Given the description of an element on the screen output the (x, y) to click on. 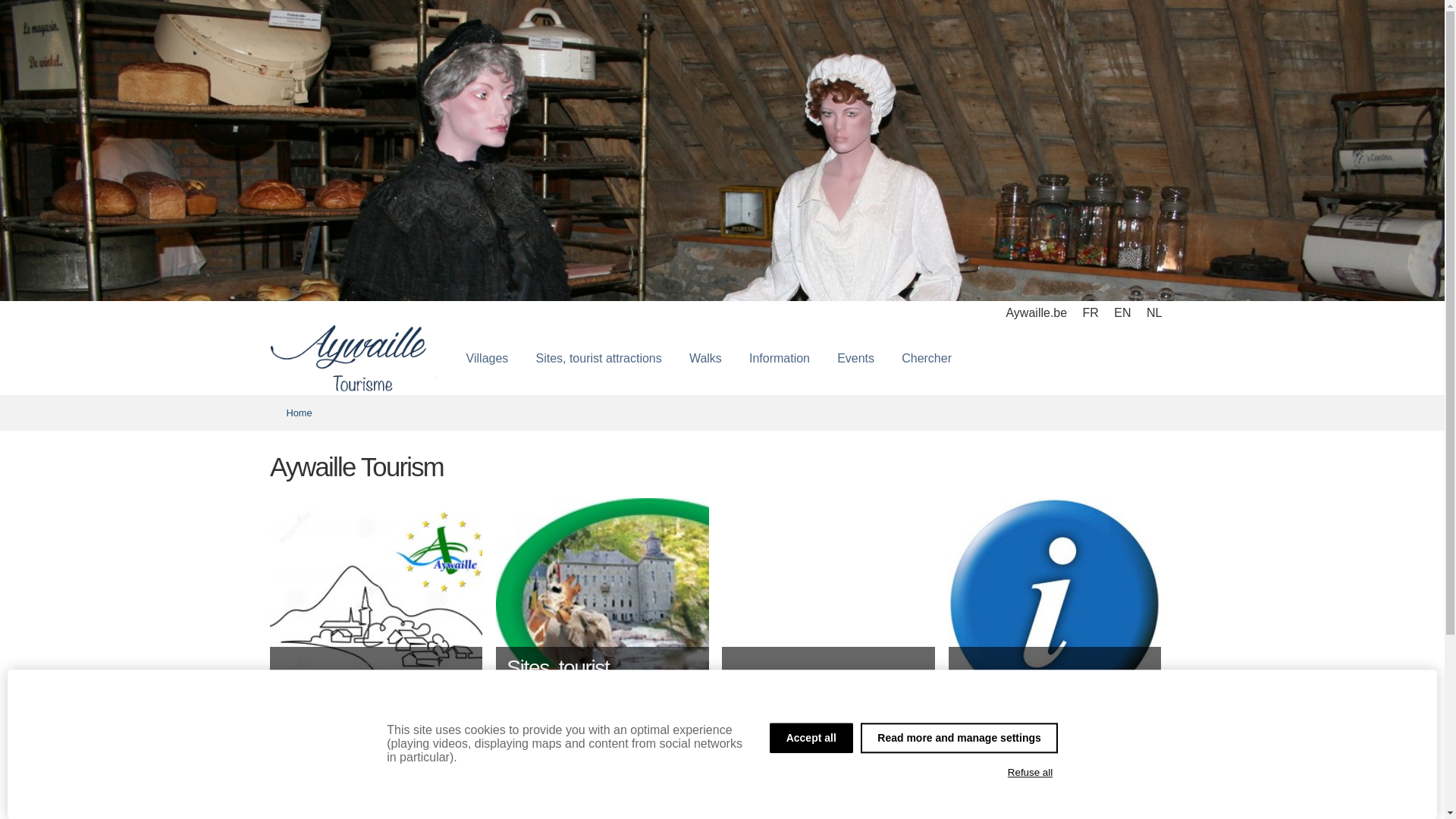
Walks Element type: text (705, 358)
EN Element type: text (1121, 312)
FR Element type: text (1090, 312)
Accept all Element type: text (811, 737)
Aywaille.be Element type: text (1036, 312)
Read more and manage settings Element type: text (958, 737)
Chercher Element type: text (926, 358)
Refuse all Element type: text (1029, 772)
Events Element type: text (855, 358)
Home Element type: text (299, 412)
Villages Element type: text (487, 358)
Sites, tourist attractions Element type: text (598, 358)
NL Element type: text (1153, 312)
Information Element type: text (779, 358)
